Given the description of an element on the screen output the (x, y) to click on. 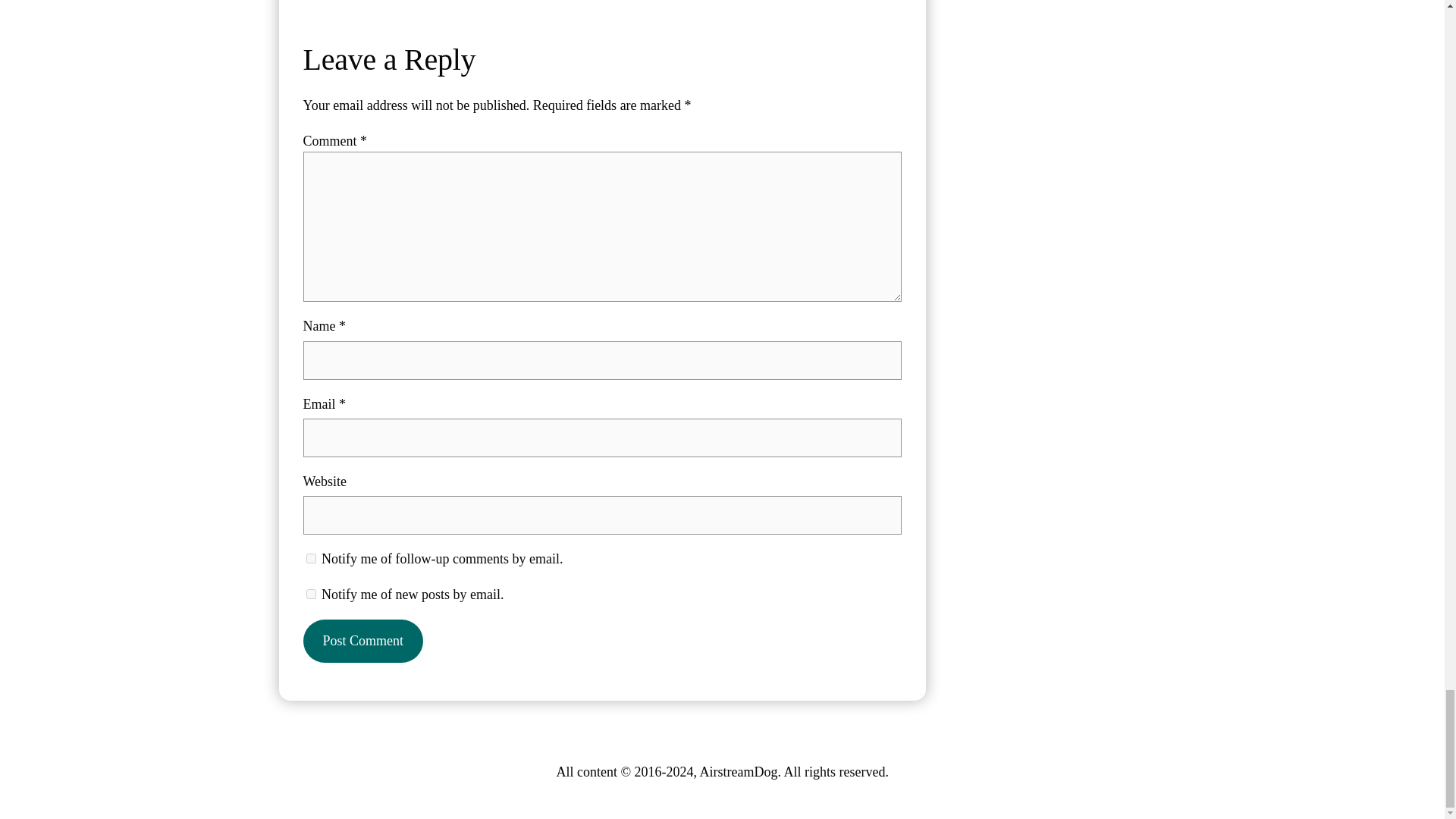
subscribe (310, 593)
Post Comment (362, 640)
subscribe (310, 558)
